Given the description of an element on the screen output the (x, y) to click on. 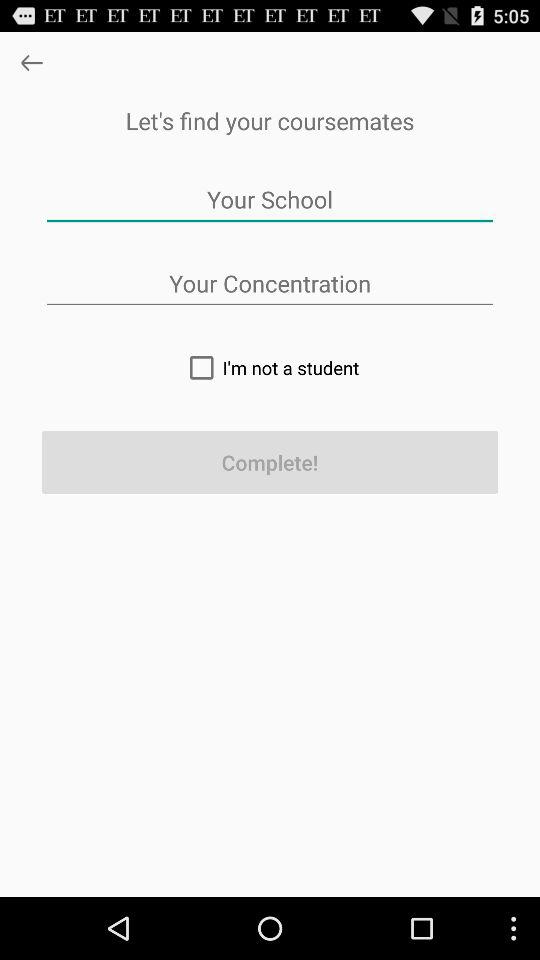
choose complete! (269, 461)
